Given the description of an element on the screen output the (x, y) to click on. 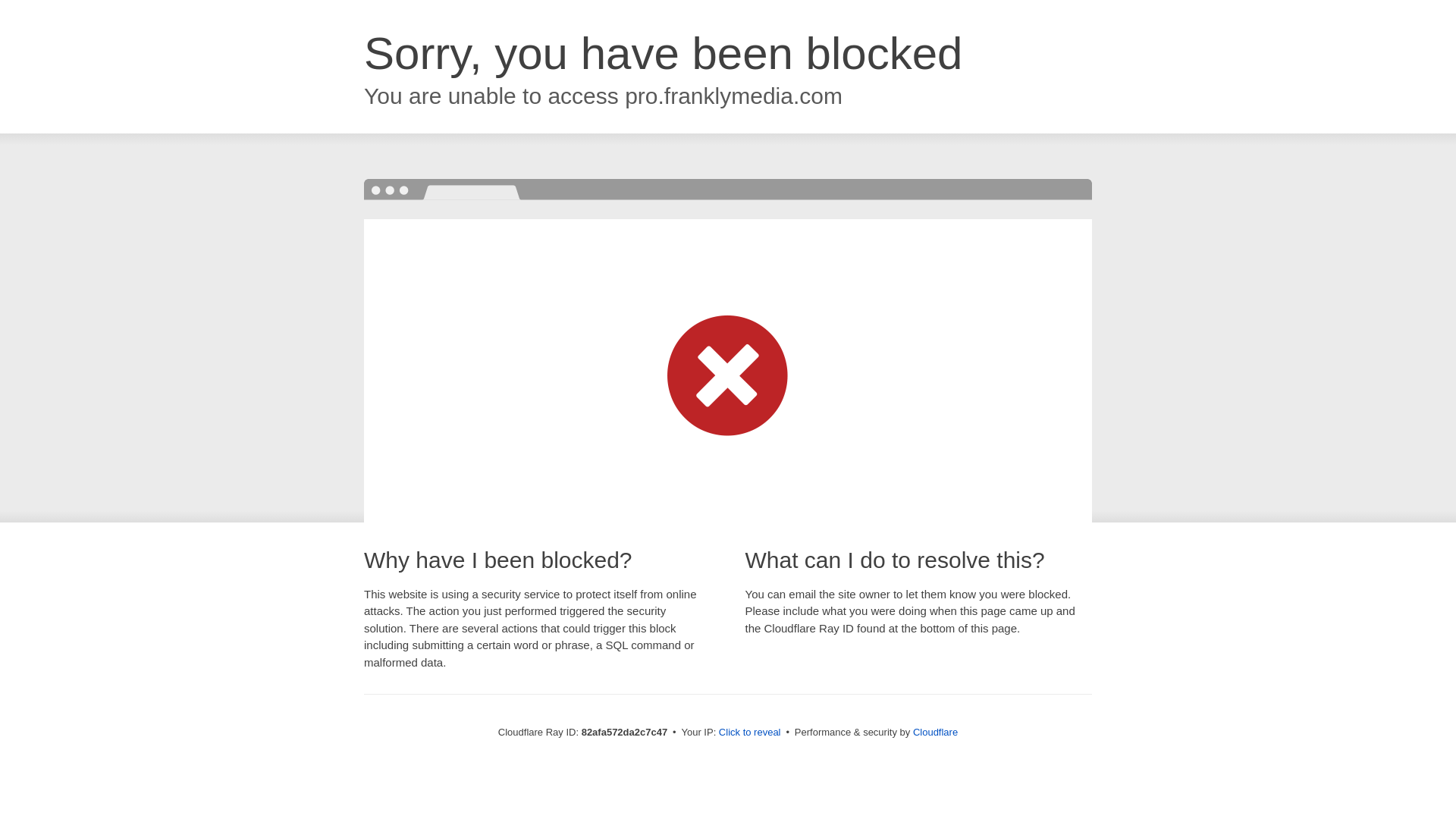
Cloudflare Element type: text (935, 731)
Click to reveal Element type: text (749, 732)
